Given the description of an element on the screen output the (x, y) to click on. 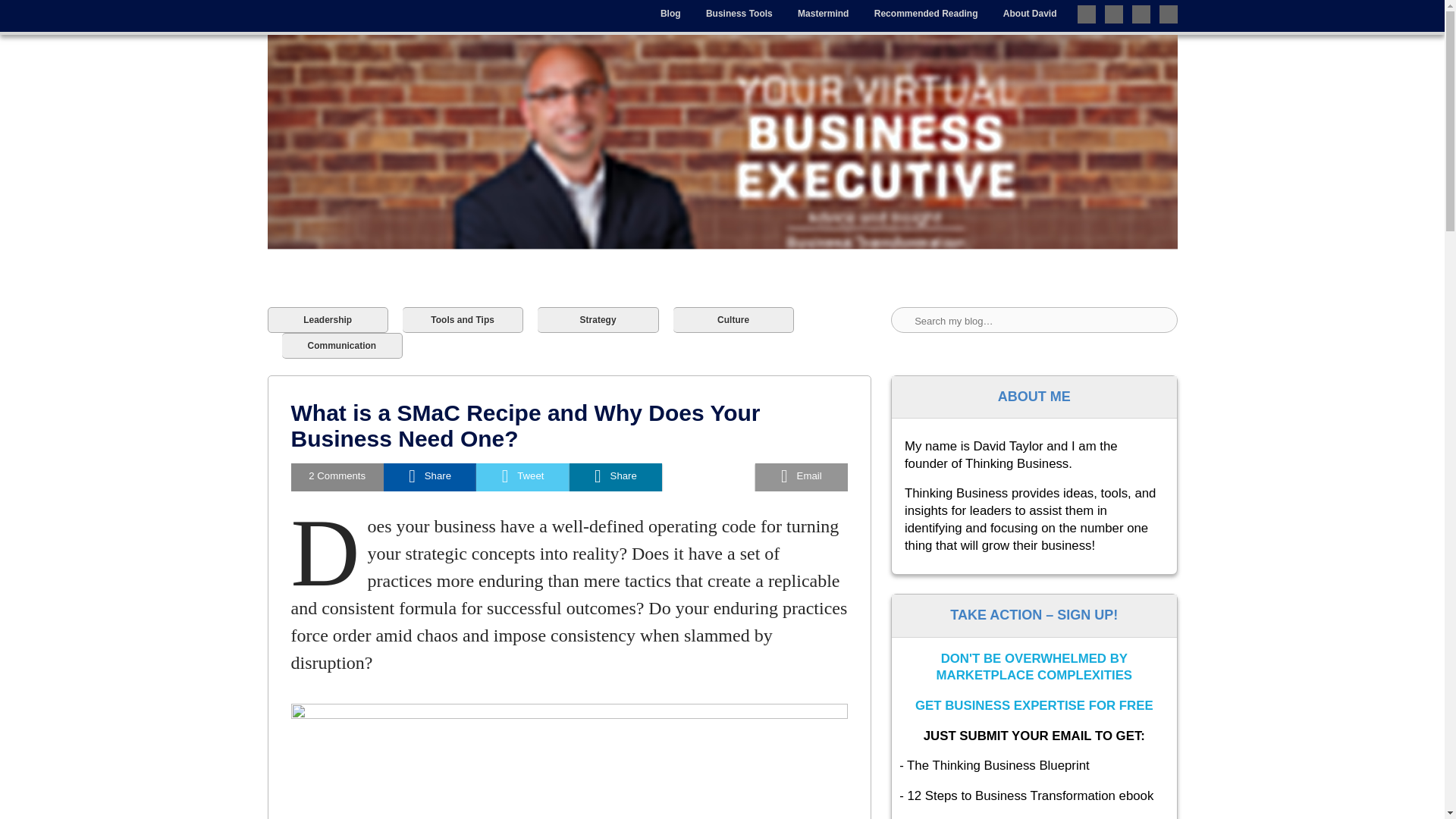
Blog (671, 14)
Leadership (326, 76)
Comment on this Post (337, 233)
Mastermind (823, 14)
Share (615, 233)
About David (1029, 14)
Recommended Reading (926, 14)
Search (31, 17)
Share on LinkedIn (615, 233)
Get Access (940, 750)
Jim Collins (395, 643)
Follow me on Instagram (1167, 13)
Culture (732, 76)
Tools and Tips (462, 76)
2 Comments (337, 233)
